Given the description of an element on the screen output the (x, y) to click on. 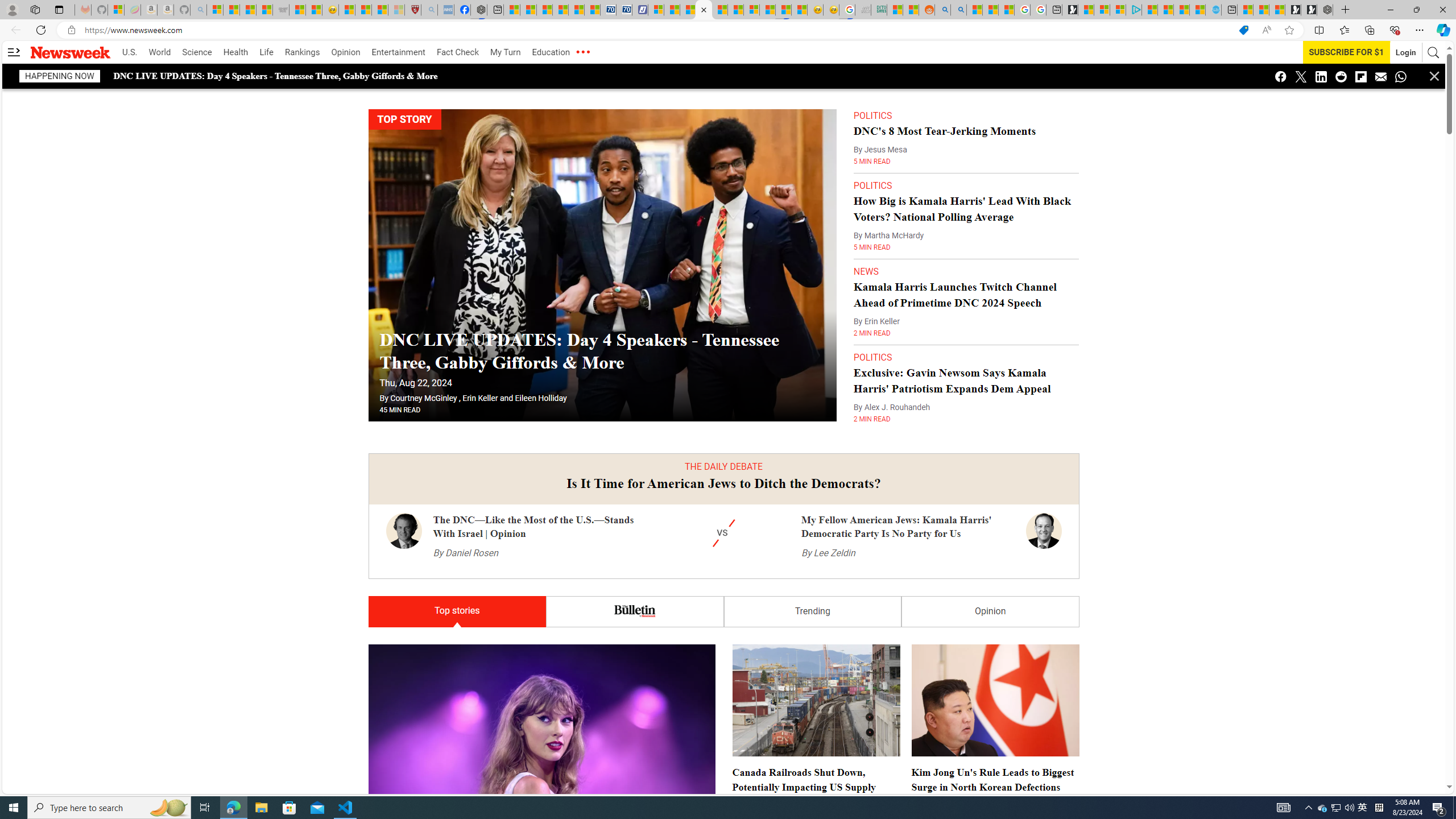
list of asthma inhalers uk - Search - Sleeping (429, 9)
Navy Quest (863, 9)
Education (550, 52)
Entertainment (397, 52)
World (159, 52)
DNC's 8 Most Tear-Jerking Moments (944, 130)
NCL Adult Asthma Inhaler Choice Guideline - Sleeping (445, 9)
Health (235, 52)
